Given the description of an element on the screen output the (x, y) to click on. 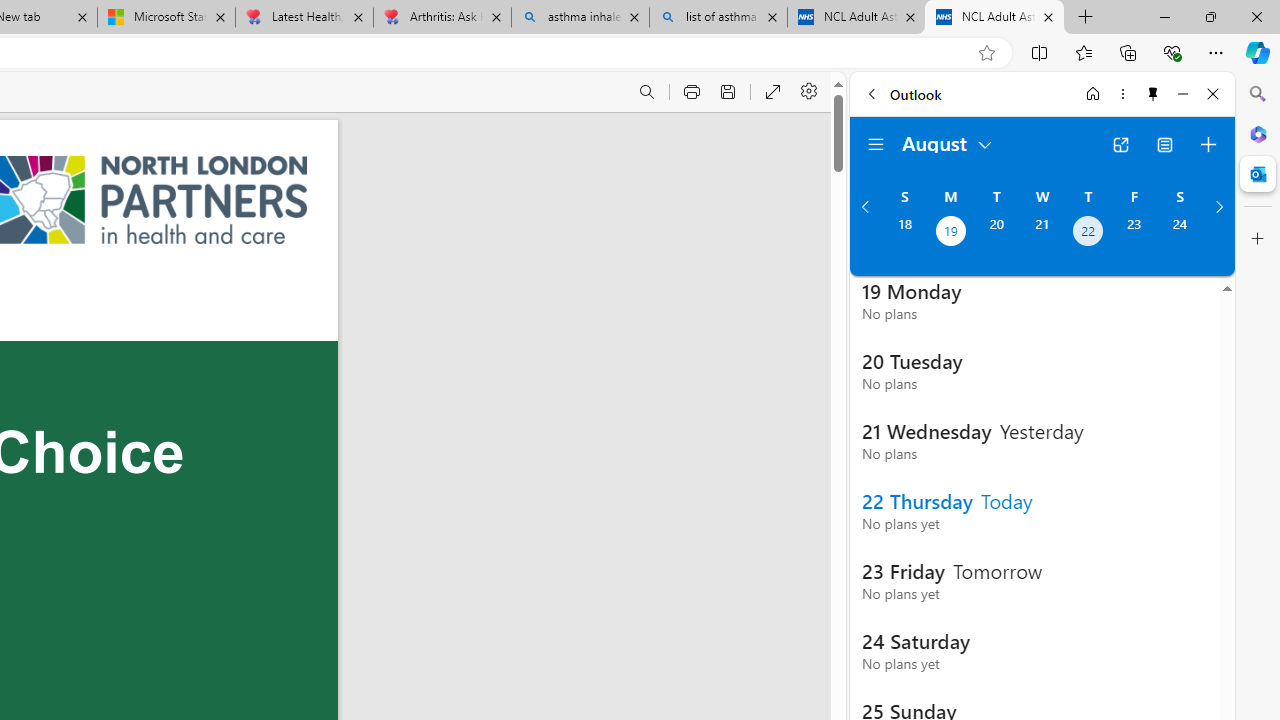
Arthritis: Ask Health Professionals (441, 17)
